Given the description of an element on the screen output the (x, y) to click on. 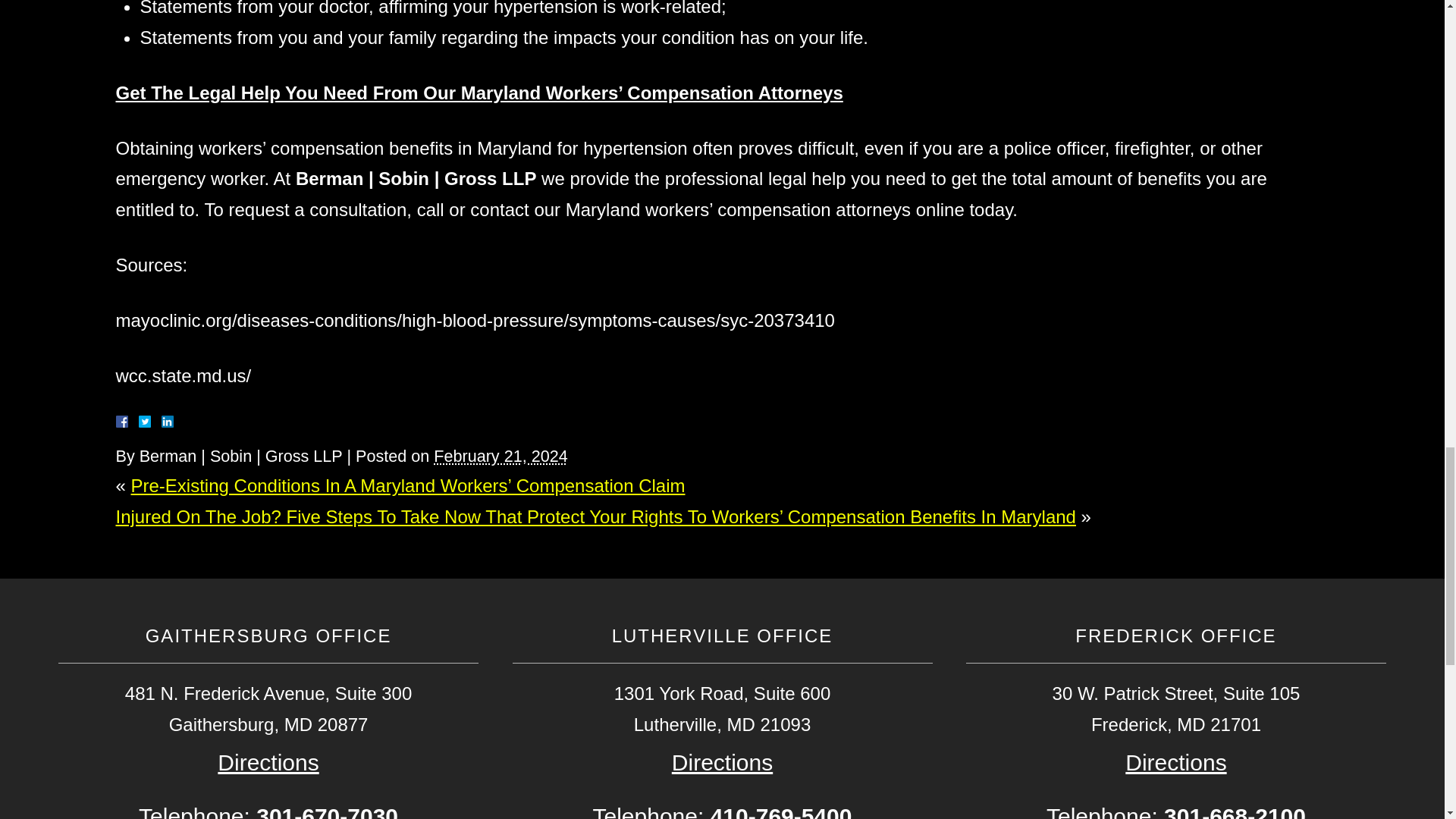
Twitter (149, 421)
Open Google Map in a New Window (267, 762)
LinkedIn (160, 421)
Facebook (139, 421)
Open Google Map in a New Window (1175, 762)
Open Google Map in a New Window (722, 762)
2024-02-21T03:00:34-0800 (500, 456)
